Given the description of an element on the screen output the (x, y) to click on. 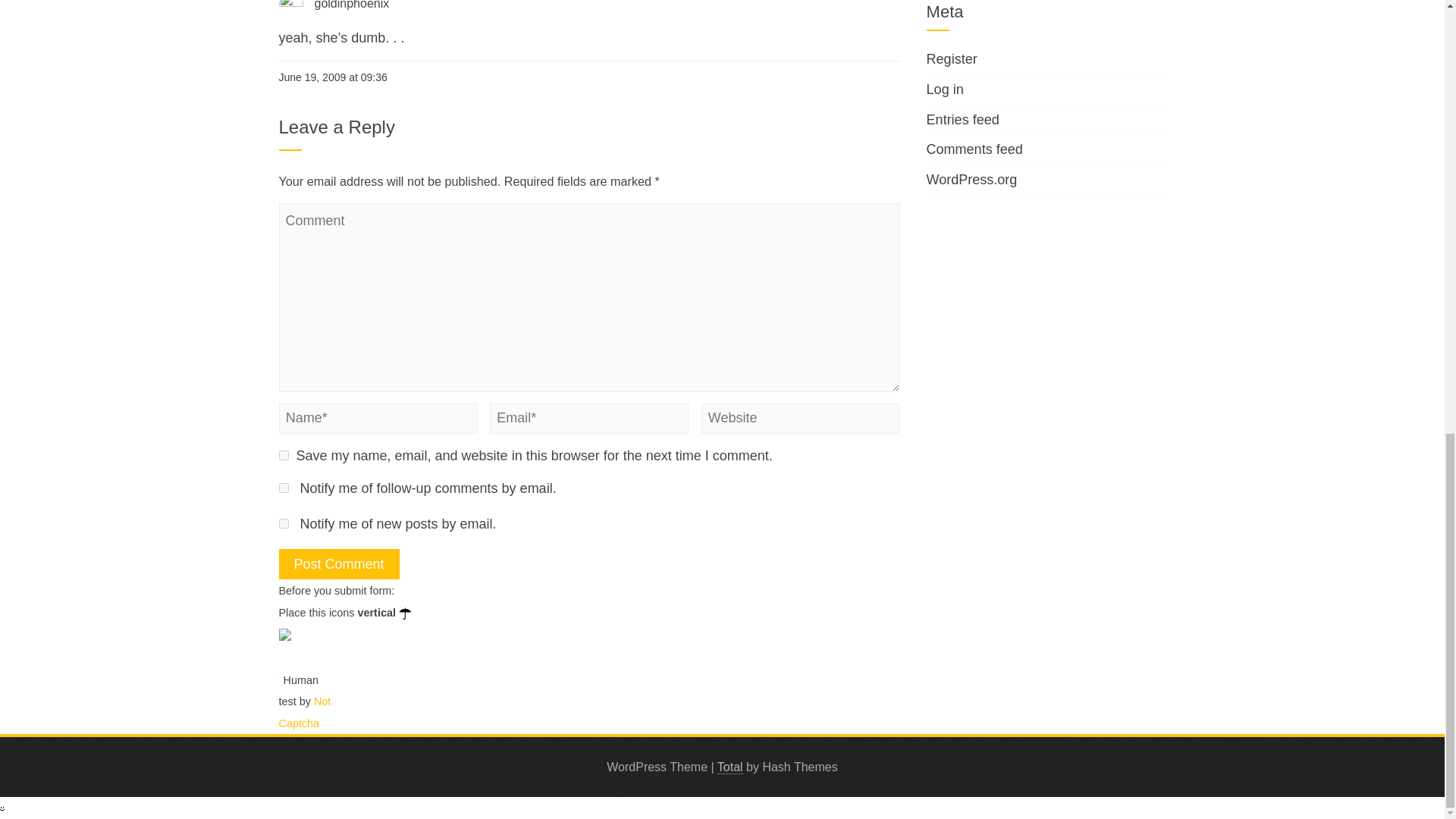
subscribe (283, 488)
Comments feed (974, 149)
WordPress.org (971, 179)
Not Captcha (305, 712)
Register (951, 58)
Entries feed (962, 118)
Total (729, 766)
Log in (944, 89)
subscribe (283, 523)
yes (283, 455)
Post Comment (338, 563)
Post Comment (338, 563)
June 19, 2009 at 09:36 (333, 76)
